Given the description of an element on the screen output the (x, y) to click on. 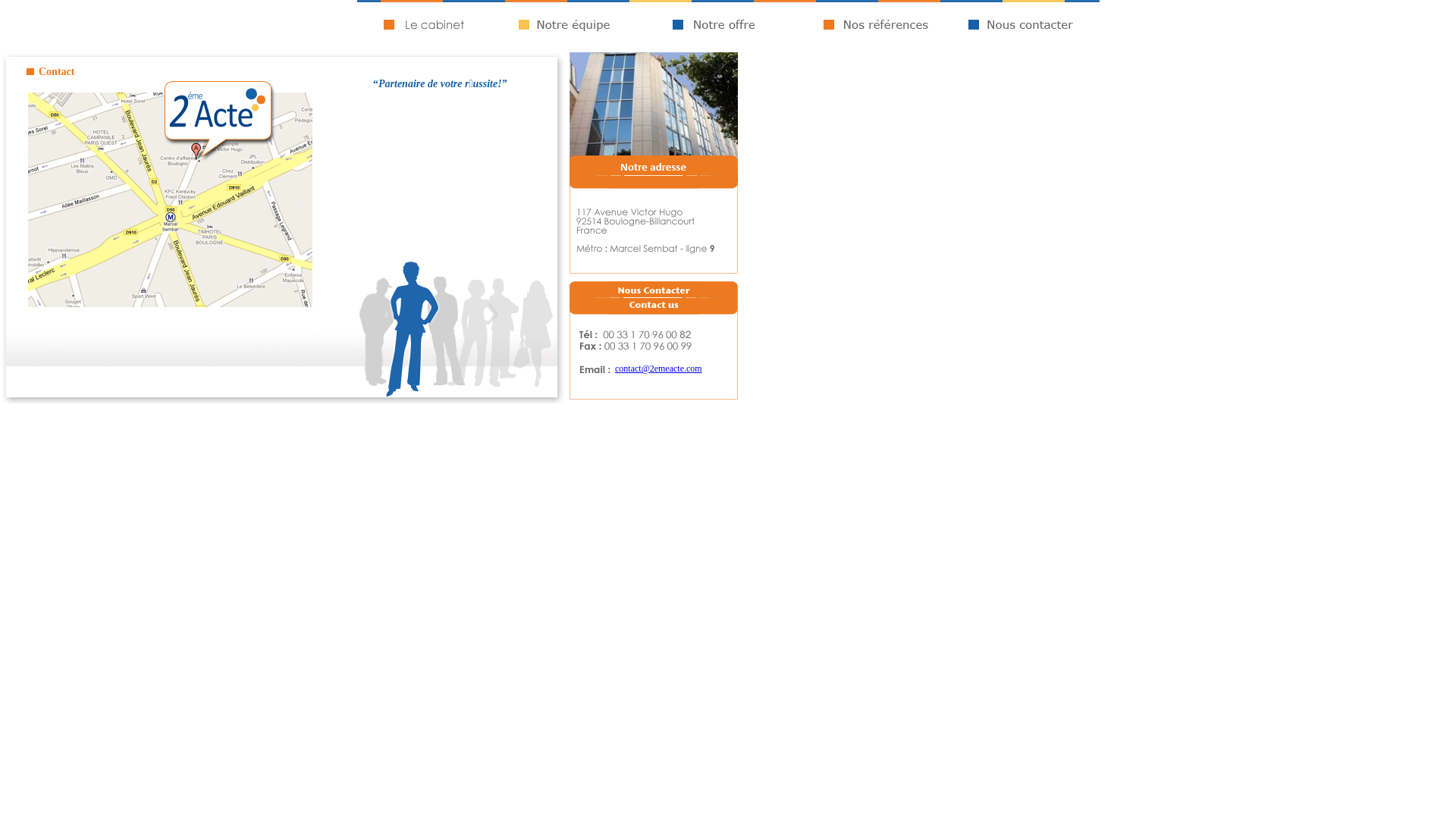
contact@2emeacte.com Element type: text (658, 368)
